Given the description of an element on the screen output the (x, y) to click on. 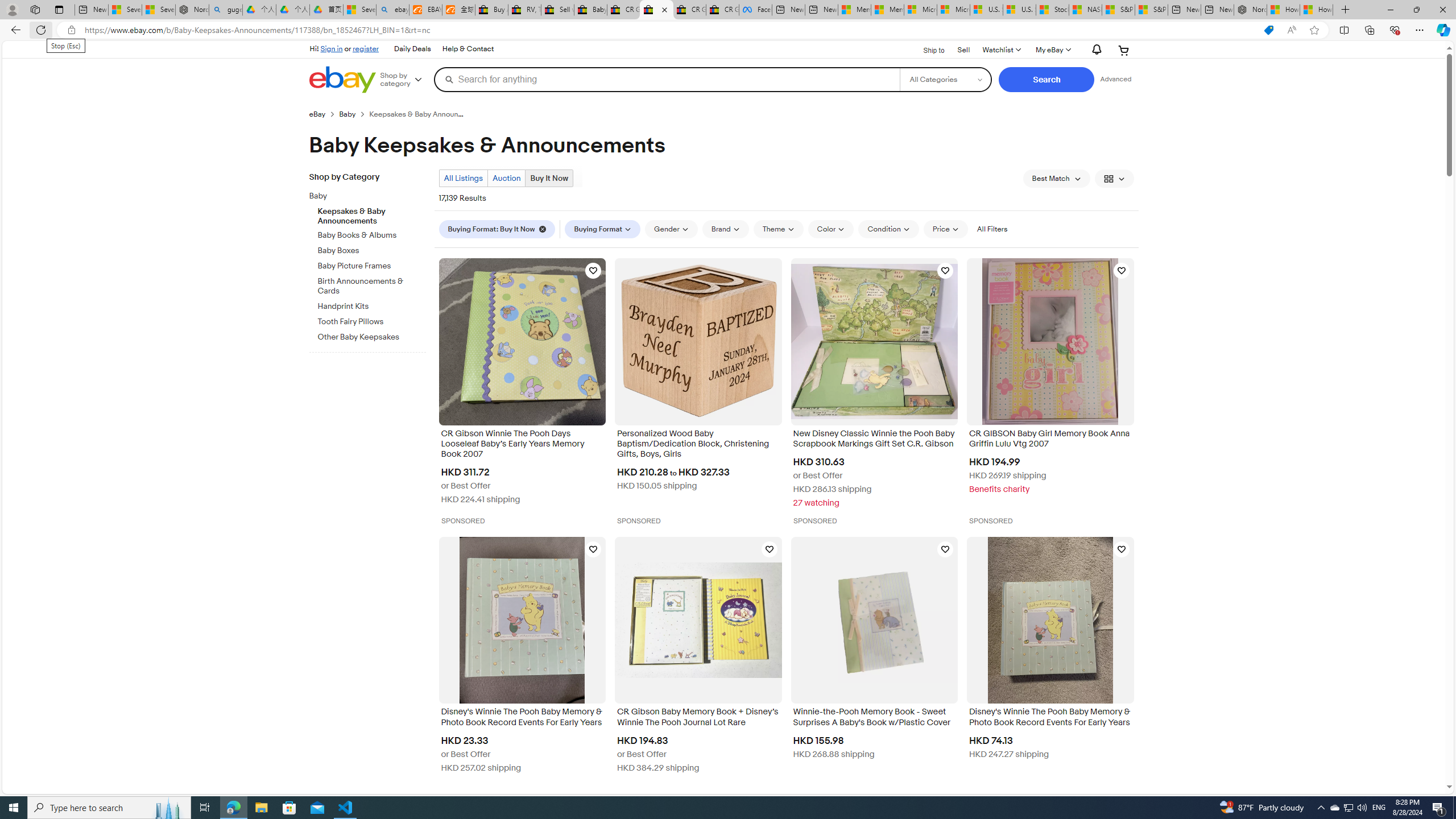
eBay Home (341, 79)
Theme (777, 229)
Sell worldwide with eBay (557, 9)
Tooth Fairy Pillows (371, 319)
Baby Picture Frames (371, 266)
Close (1442, 9)
Daily Deals (412, 49)
Auction (505, 177)
View site information (70, 29)
Buying Format: Buy It Now- Remove Filter (499, 229)
All Filters (991, 229)
